Given the description of an element on the screen output the (x, y) to click on. 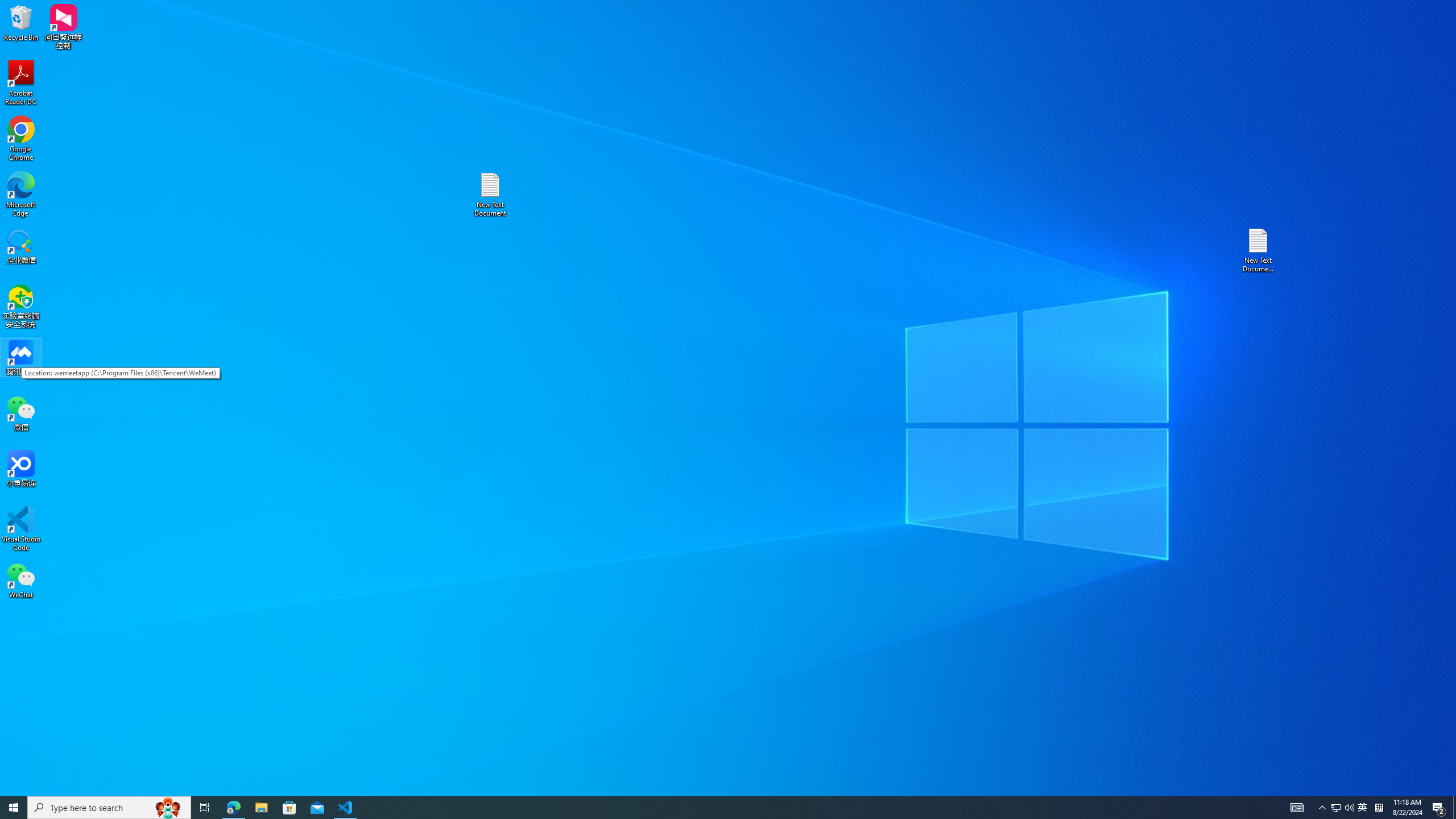
AutomationID: 4105 (1297, 807)
Visual Studio Code - 1 running window (345, 807)
Recycle Bin (21, 22)
Acrobat Reader DC (21, 82)
Q2790: 100% (1349, 807)
Show desktop (1454, 807)
Microsoft Edge - 1 running window (233, 807)
Running applications (1335, 807)
